Given the description of an element on the screen output the (x, y) to click on. 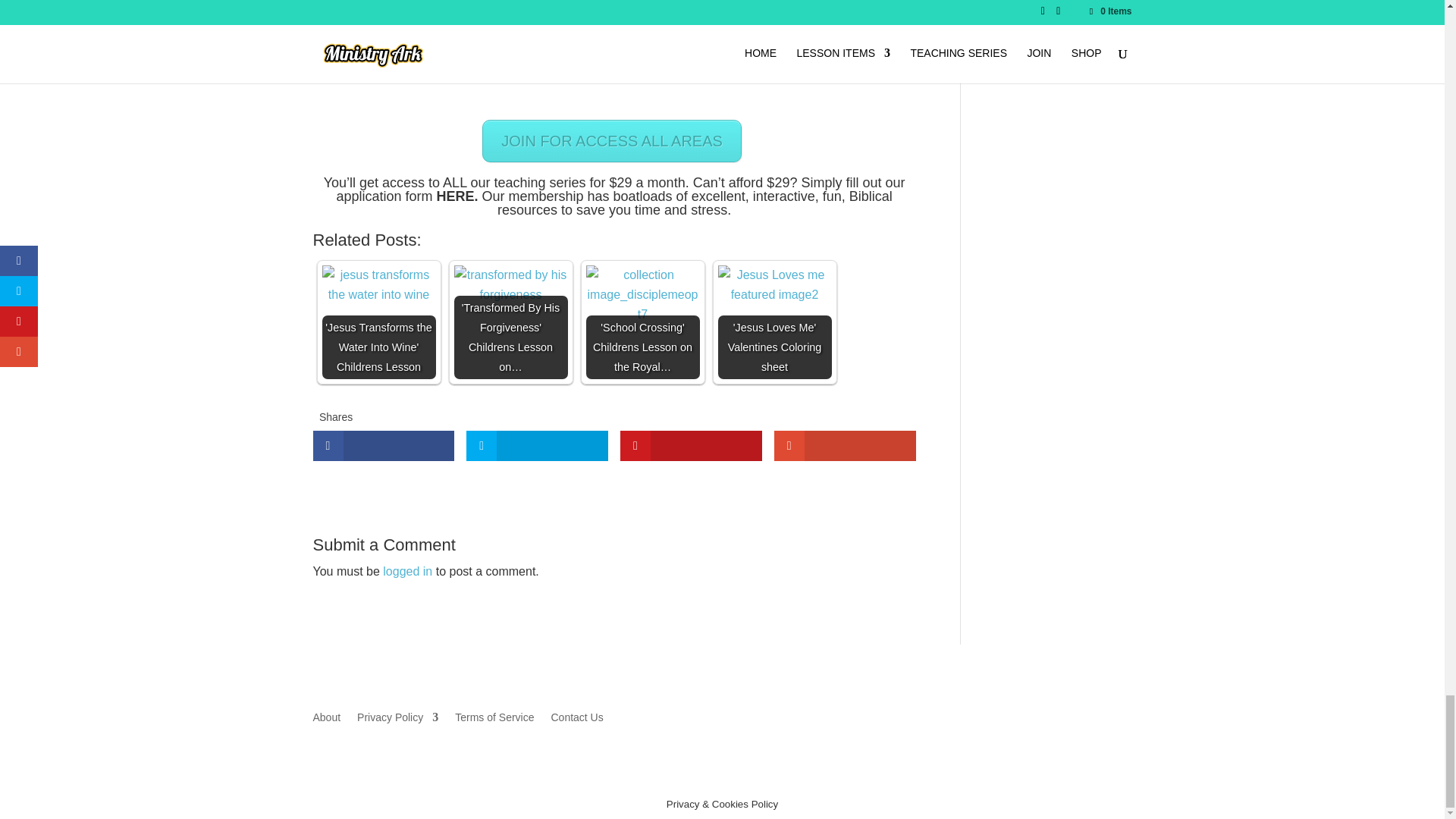
'Jesus Transforms the Water Into Wine' Childrens Lesson (378, 284)
'Jesus Loves Me' Valentines Coloring sheet (774, 284)
